Given the description of an element on the screen output the (x, y) to click on. 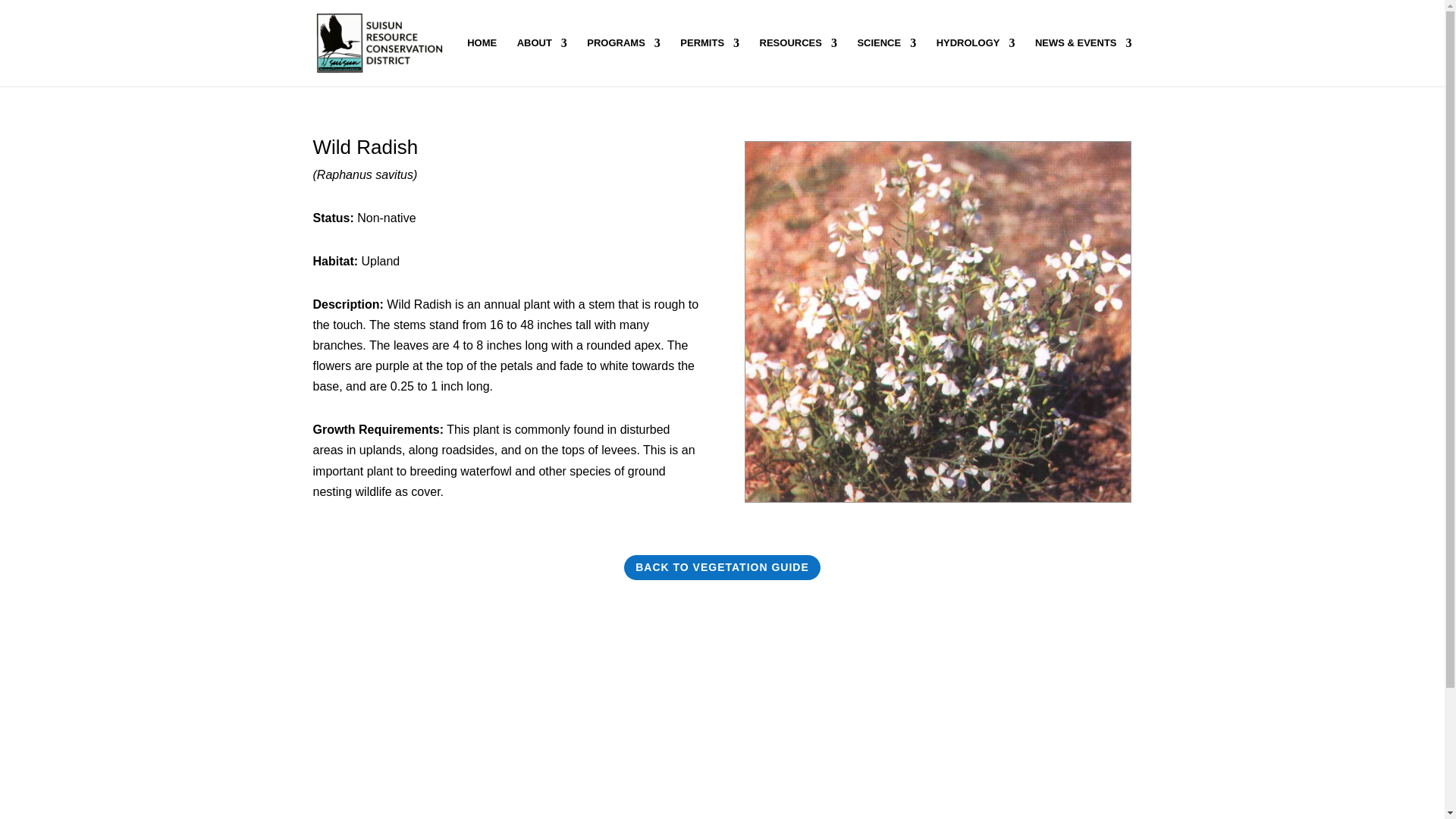
PROGRAMS (623, 61)
RESOURCES (798, 61)
PERMITS (709, 61)
SCIENCE (886, 61)
ABOUT (541, 61)
